Given the description of an element on the screen output the (x, y) to click on. 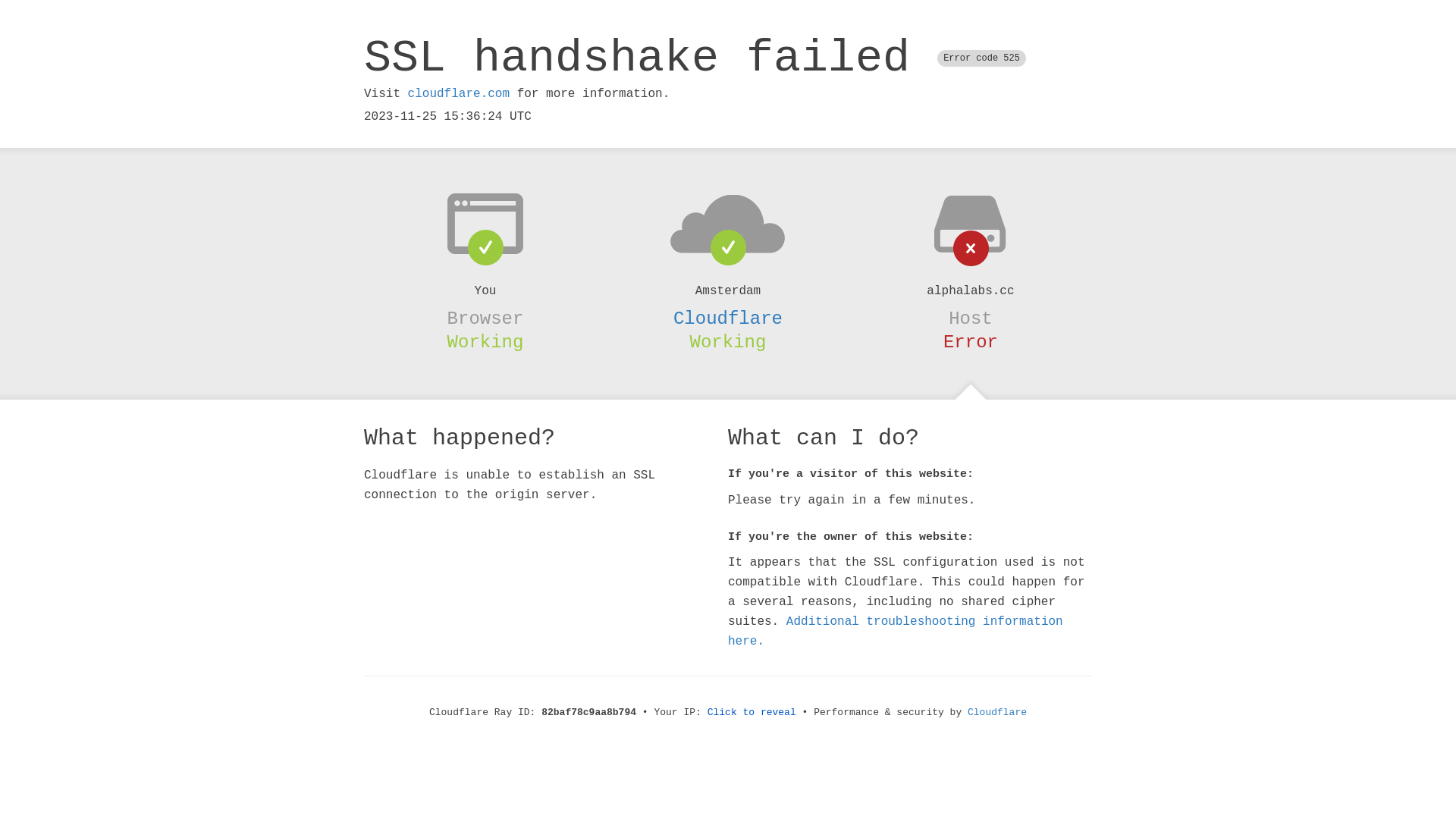
Cloudflare Element type: text (996, 712)
Cloudflare Element type: text (727, 318)
Additional troubleshooting information here. Element type: text (895, 631)
cloudflare.com Element type: text (458, 93)
Click to reveal Element type: text (751, 712)
